Given the description of an element on the screen output the (x, y) to click on. 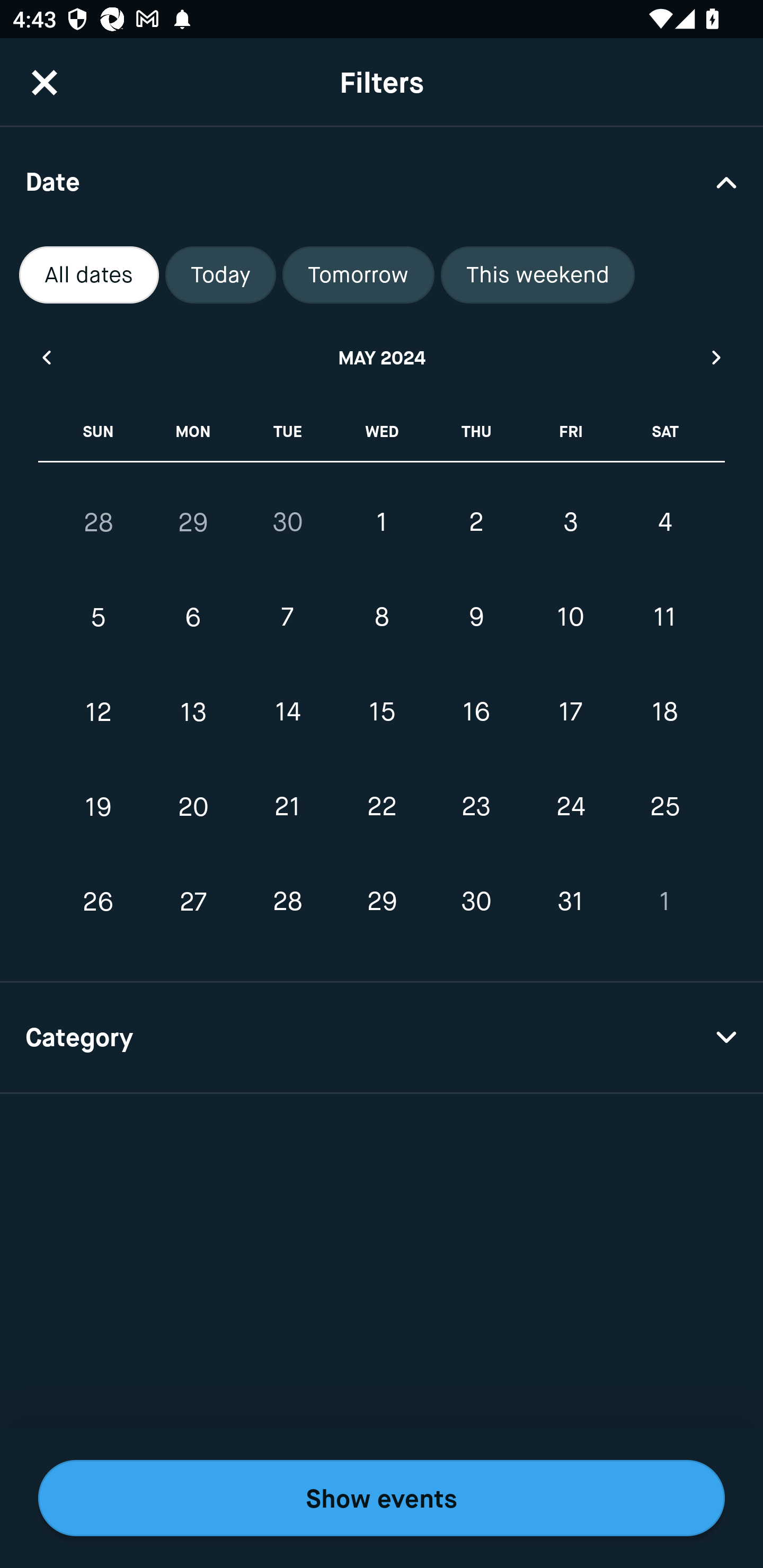
CloseButton (44, 82)
Date Drop Down Arrow (381, 181)
All dates (88, 274)
Today (220, 274)
Tomorrow (358, 274)
This weekend (537, 274)
Previous (45, 357)
Next (717, 357)
28 (98, 522)
29 (192, 522)
30 (287, 522)
1 (381, 522)
2 (475, 522)
3 (570, 522)
4 (664, 522)
5 (98, 617)
6 (192, 617)
7 (287, 617)
8 (381, 617)
9 (475, 617)
10 (570, 617)
11 (664, 617)
12 (98, 711)
13 (192, 711)
14 (287, 711)
15 (381, 711)
16 (475, 711)
17 (570, 711)
18 (664, 711)
19 (98, 806)
20 (192, 806)
21 (287, 806)
22 (381, 806)
23 (475, 806)
24 (570, 806)
25 (664, 806)
26 (98, 901)
27 (192, 901)
28 (287, 901)
29 (381, 901)
30 (475, 901)
31 (570, 901)
1 (664, 901)
Category Drop Down Arrow (381, 1038)
Show events (381, 1497)
